Given the description of an element on the screen output the (x, y) to click on. 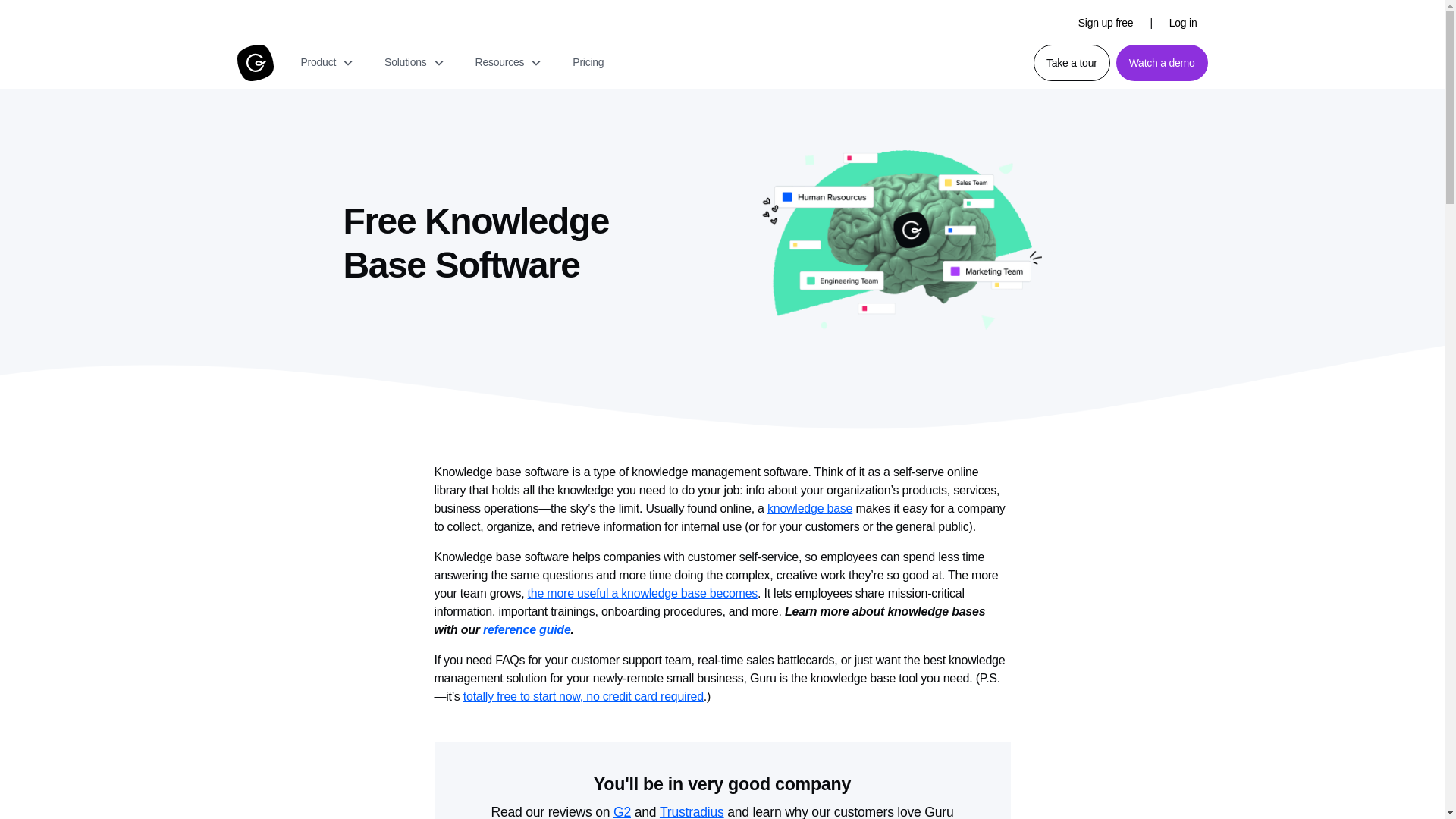
Log in (1183, 22)
Pricing (587, 62)
Sign up free (1105, 22)
